Given the description of an element on the screen output the (x, y) to click on. 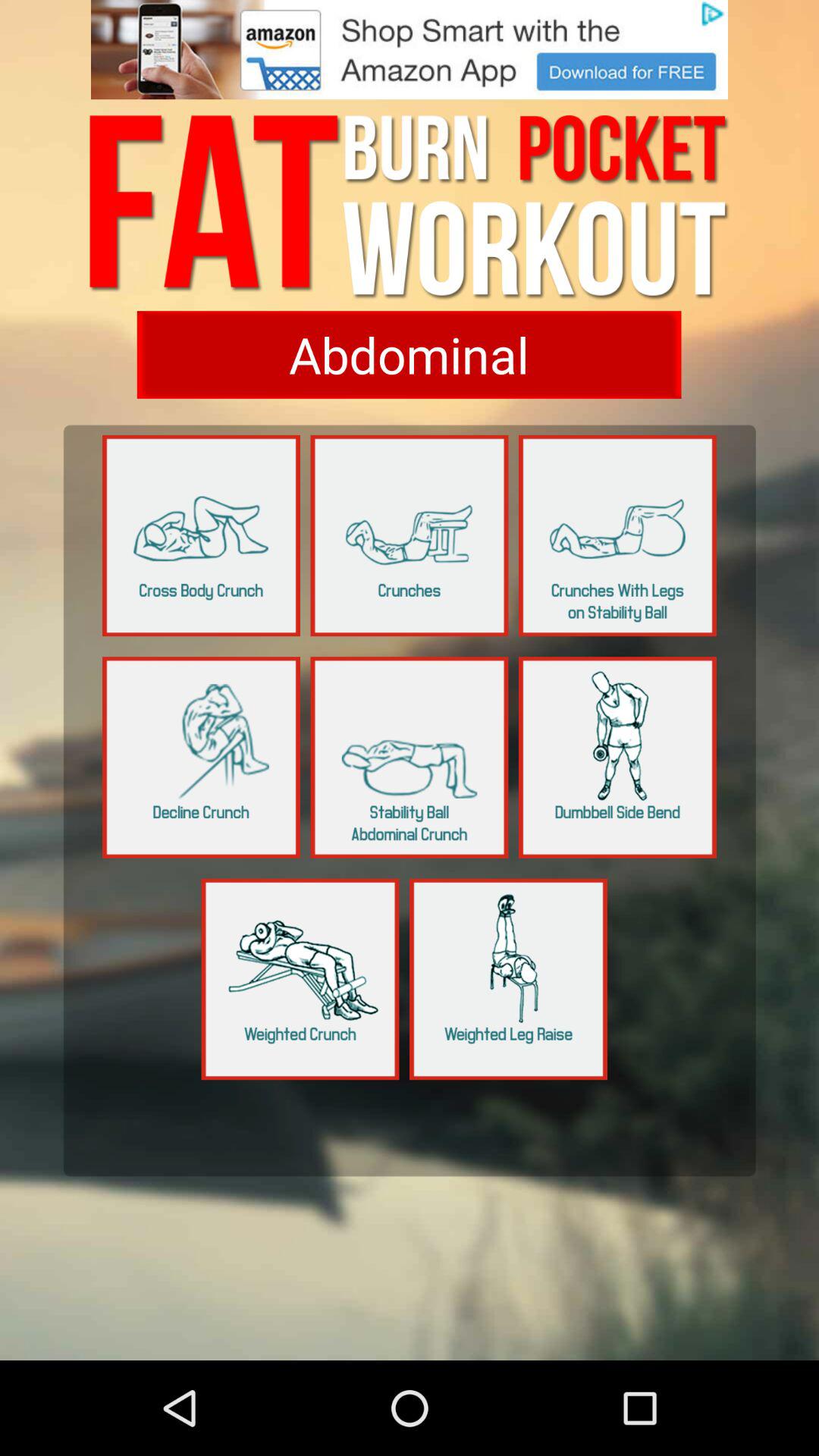
choose workout type (409, 354)
